Given the description of an element on the screen output the (x, y) to click on. 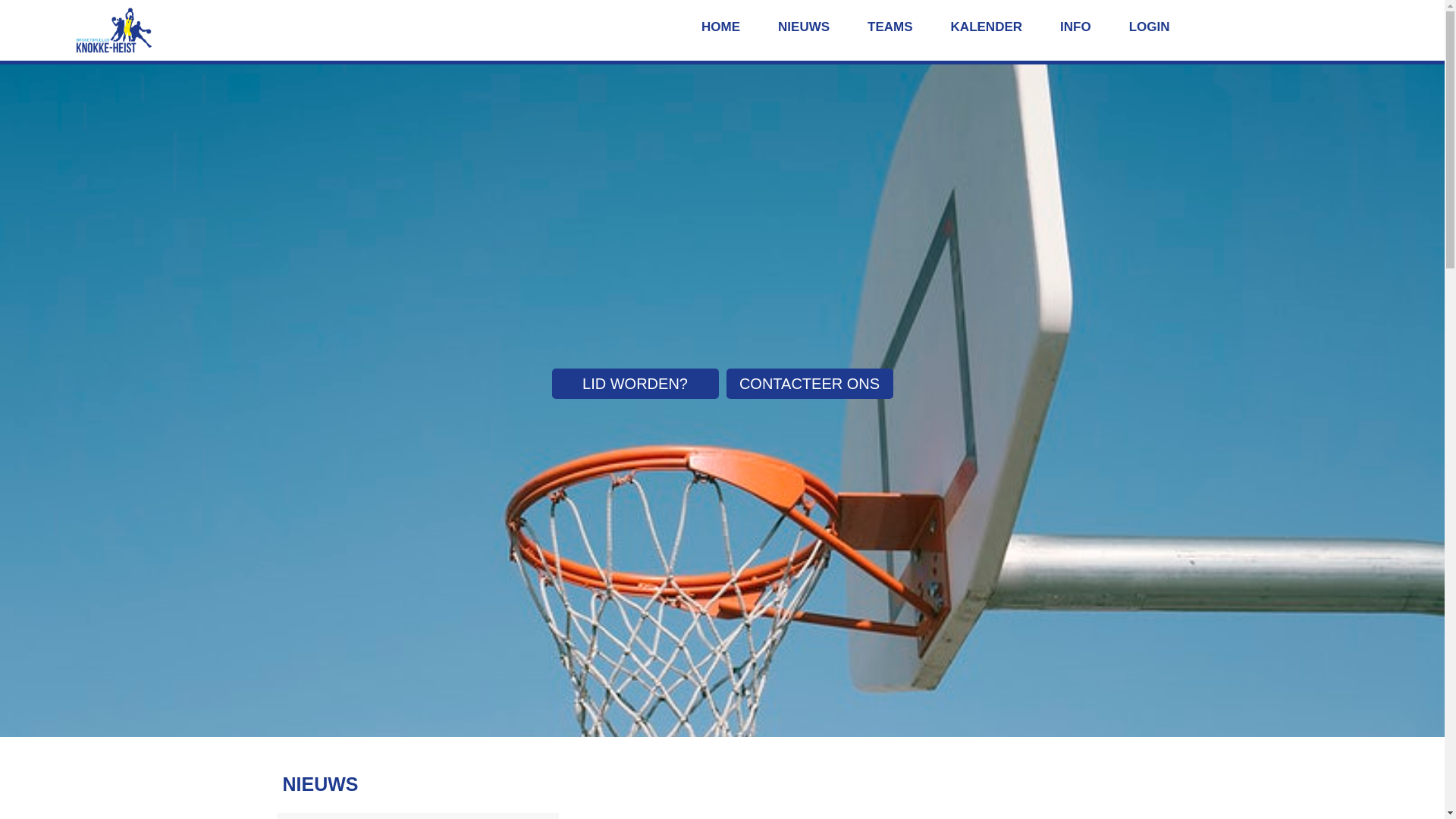
LOGIN Element type: text (1149, 27)
NIEUWS Element type: text (803, 27)
INFO Element type: text (1075, 27)
CONTACTEER ONS Element type: text (809, 383)
KALENDER Element type: text (986, 27)
TEAMS Element type: text (890, 27)
HOME Element type: text (720, 27)
LID WORDEN? Element type: text (634, 383)
